Given the description of an element on the screen output the (x, y) to click on. 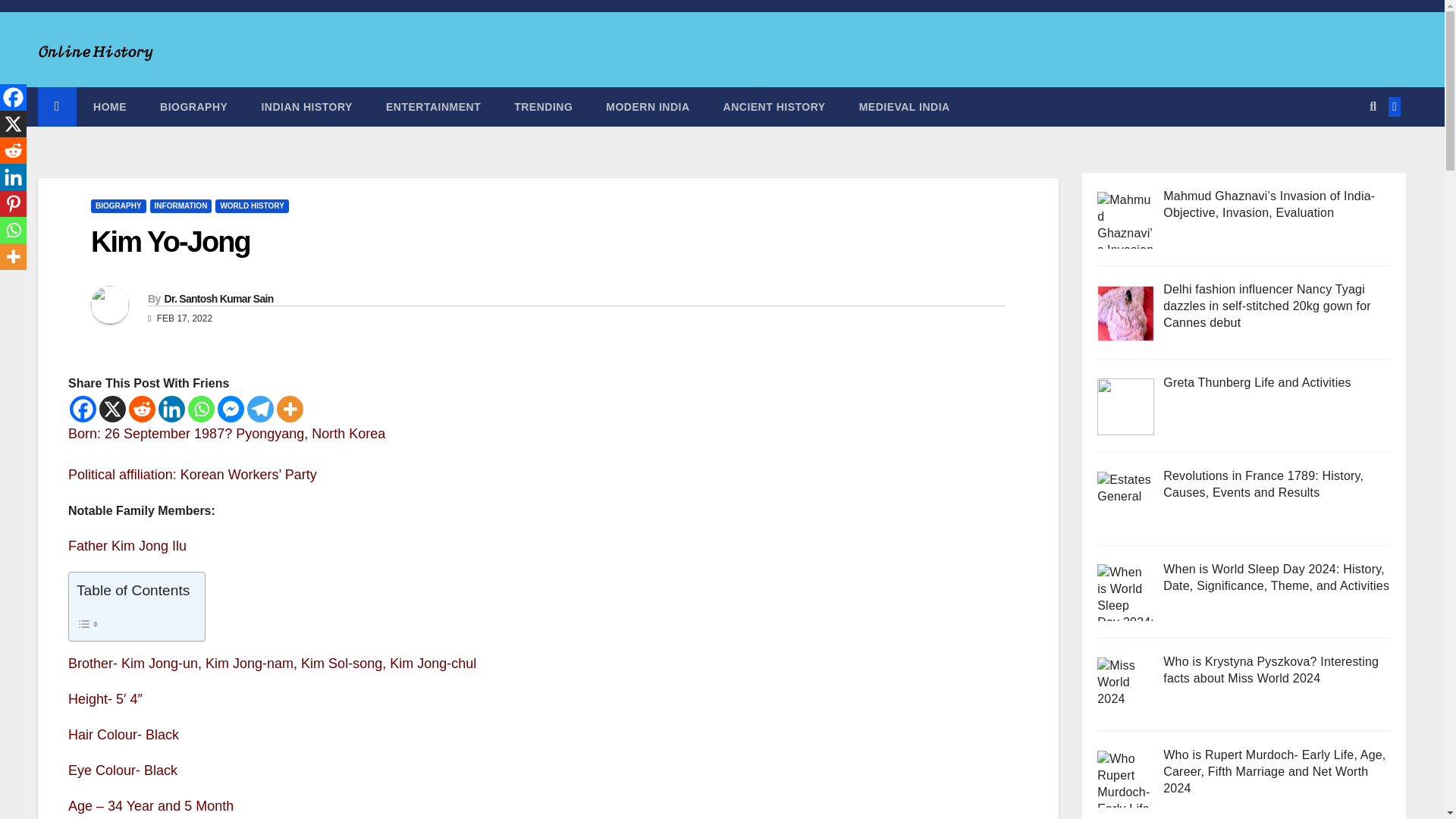
BIOGRAPHY (193, 106)
ENTERTAINMENT (433, 106)
Ancient history (774, 106)
X (112, 408)
Trending (543, 106)
Whatsapp (200, 408)
ANCIENT HISTORY (774, 106)
Facebook (82, 408)
TRENDING (543, 106)
WORLD HISTORY (251, 205)
